Given the description of an element on the screen output the (x, y) to click on. 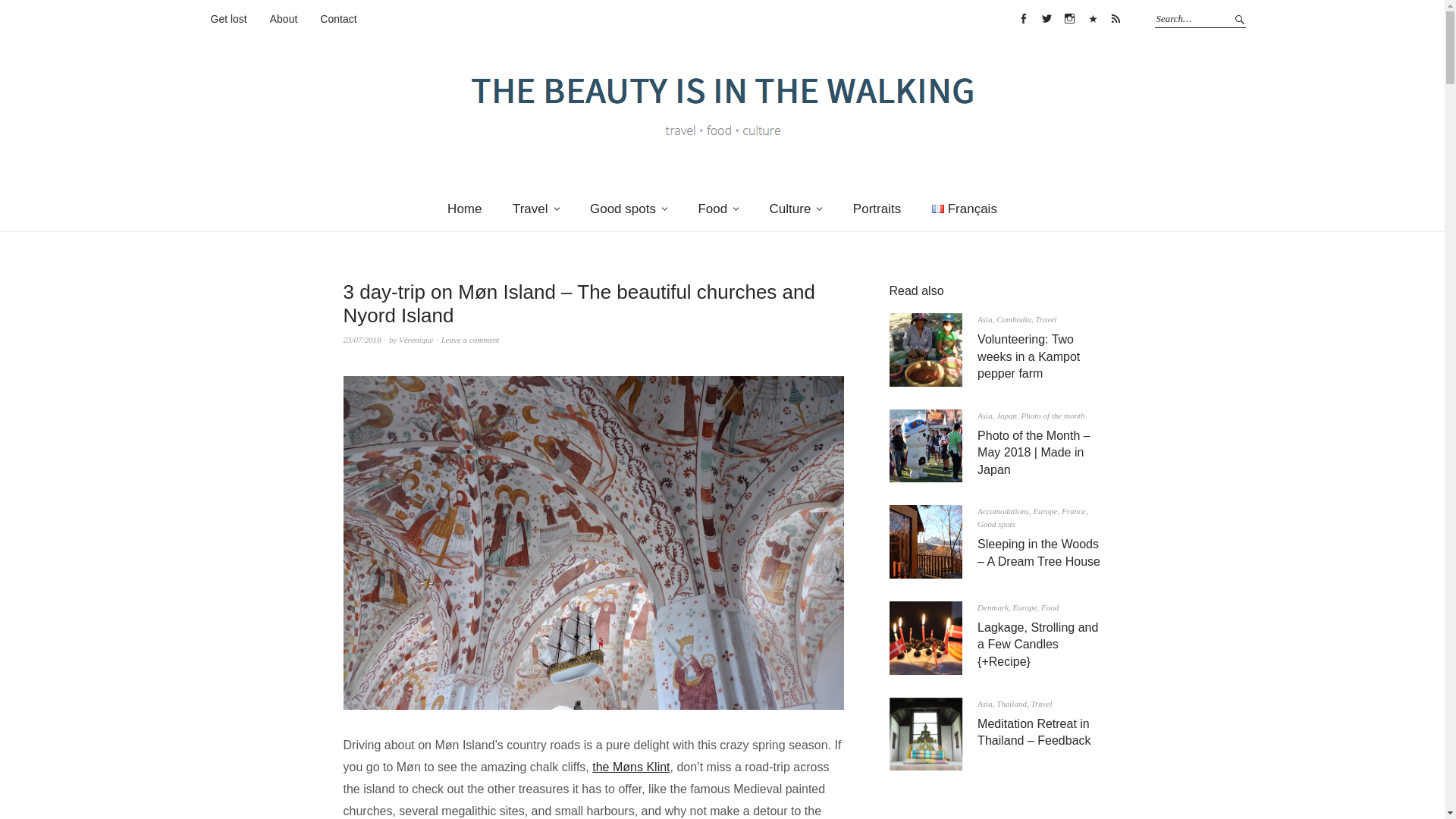
Facebook (1023, 18)
About (283, 19)
Instagram (1069, 18)
Facebook (1023, 18)
Twitter (1046, 18)
Twitter (1046, 18)
Culture (795, 208)
Contact (338, 19)
Instagram (1069, 18)
Food (718, 208)
RSS Feed (1114, 18)
Get lost (229, 19)
Home (464, 208)
Feed (1114, 18)
Good spots (628, 208)
